Given the description of an element on the screen output the (x, y) to click on. 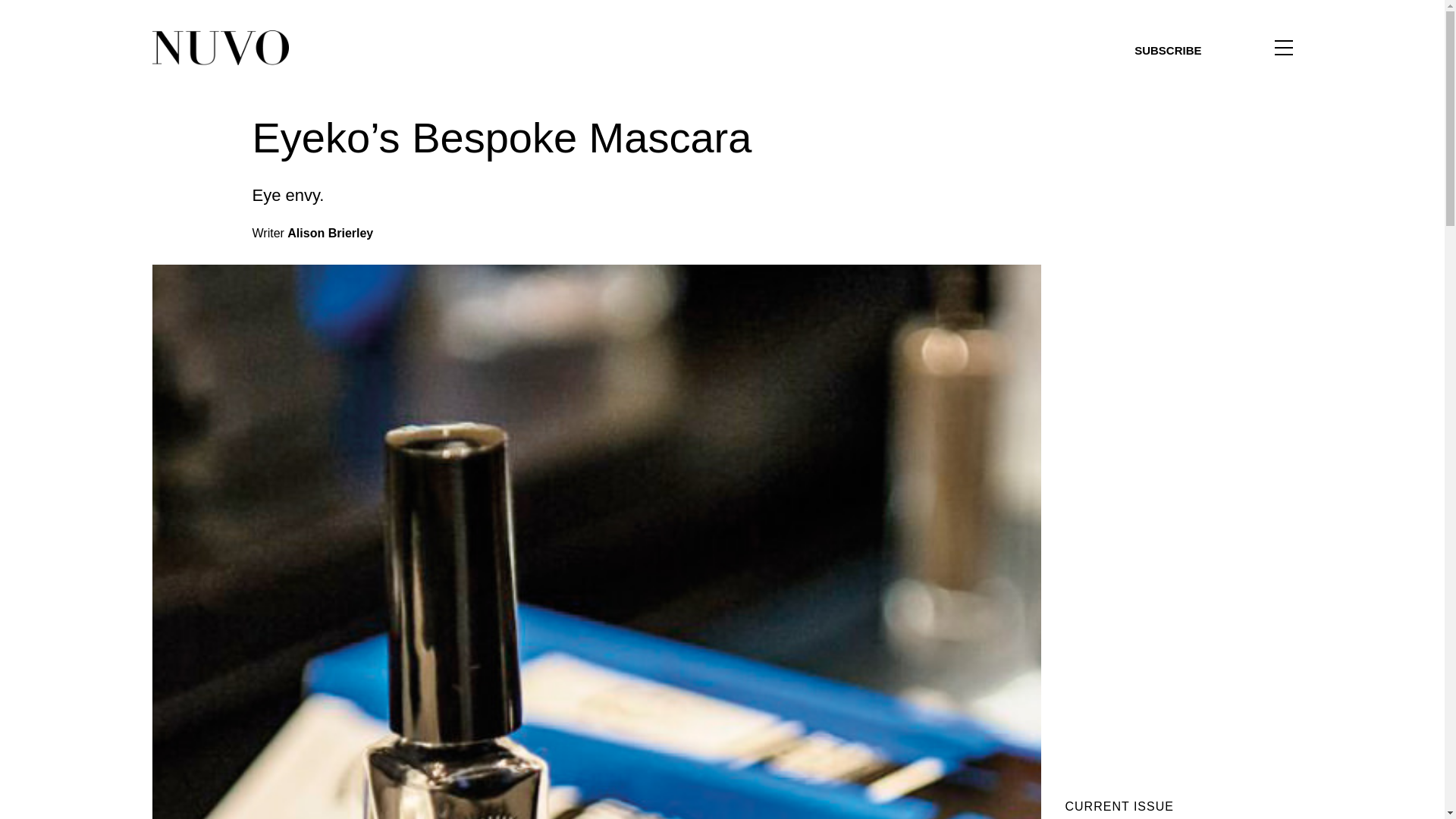
3rd party ad content (1178, 681)
SUBSCRIBE (1167, 50)
View all posts by Alison Brierley (329, 232)
